Given the description of an element on the screen output the (x, y) to click on. 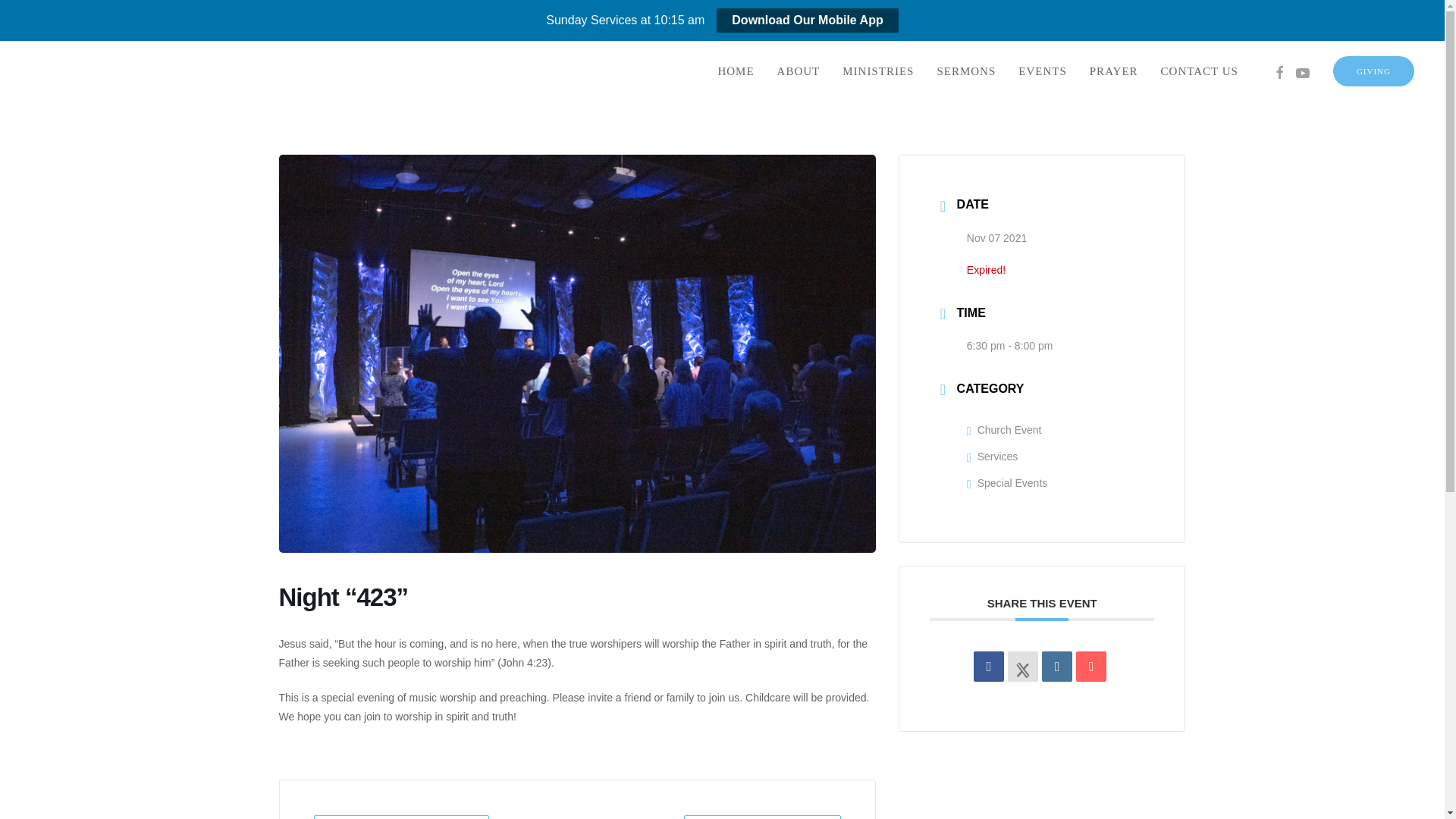
MINISTRIES (877, 70)
X Social Network (1022, 666)
PRAYER (1114, 70)
EVENTS (1042, 70)
CONTACT US (1199, 70)
SERMONS (965, 70)
Church Event (1004, 429)
Download Our Mobile App (807, 20)
Email (1090, 666)
ABOUT (798, 70)
Services (991, 456)
GIVING (1373, 71)
Linkedin (1056, 666)
Share on Facebook (989, 666)
Special Events (1006, 482)
